Given the description of an element on the screen output the (x, y) to click on. 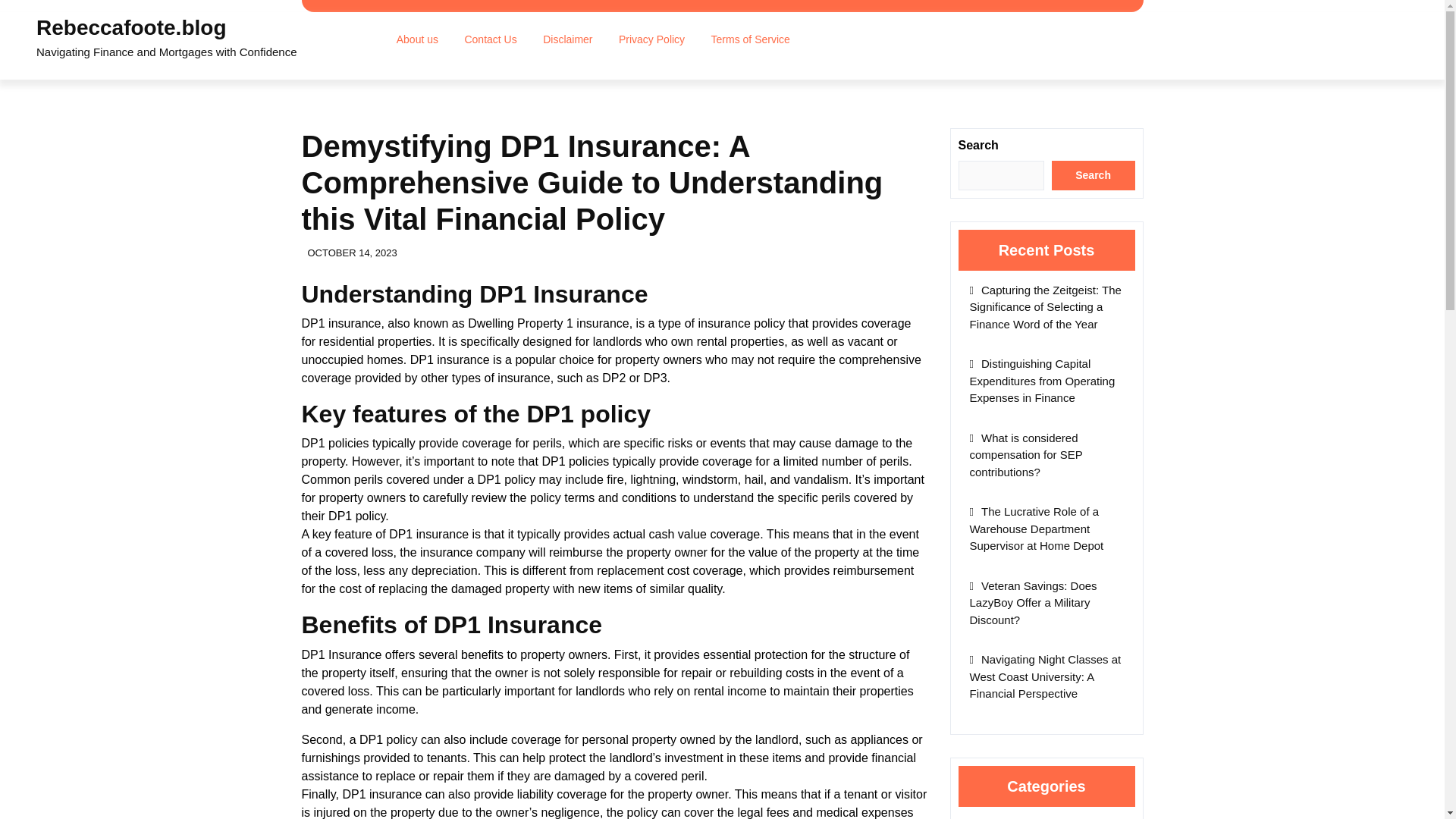
About us (417, 39)
Veteran Savings: Does LazyBoy Offer a Military Discount? (1032, 602)
Search (1093, 175)
What is considered compensation for SEP contributions? (1025, 454)
Rebeccafoote.blog (130, 27)
Contact Us (489, 39)
Disclaimer (567, 39)
